Given the description of an element on the screen output the (x, y) to click on. 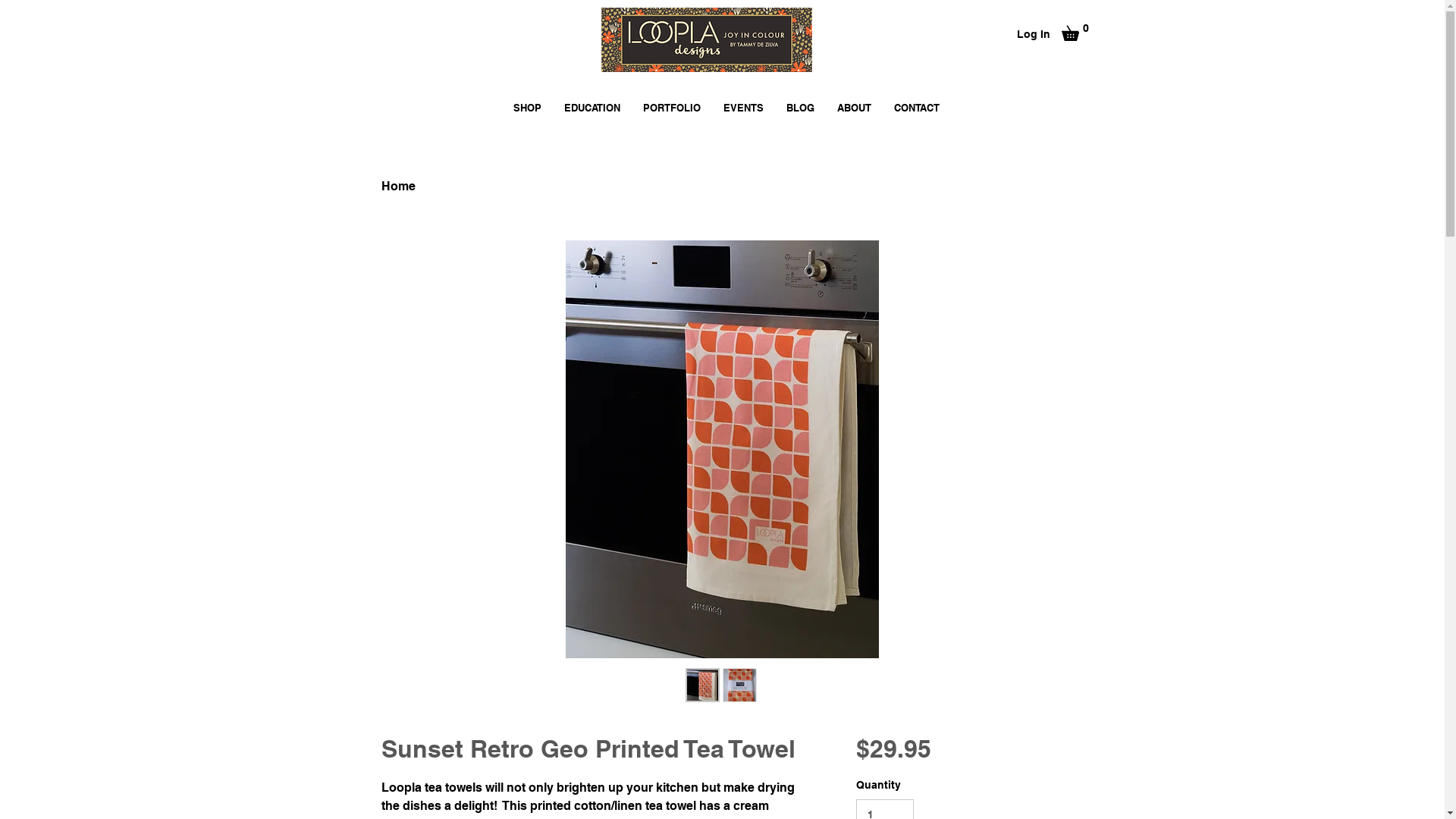
PORTFOLIO Element type: text (671, 107)
SHOP Element type: text (527, 107)
Log In Element type: text (1032, 34)
EDUCATION Element type: text (591, 107)
CONTACT Element type: text (916, 107)
ABOUT Element type: text (853, 107)
Home Element type: text (397, 185)
BLOG Element type: text (800, 107)
0 Element type: text (1077, 29)
EVENTS Element type: text (743, 107)
